Given the description of an element on the screen output the (x, y) to click on. 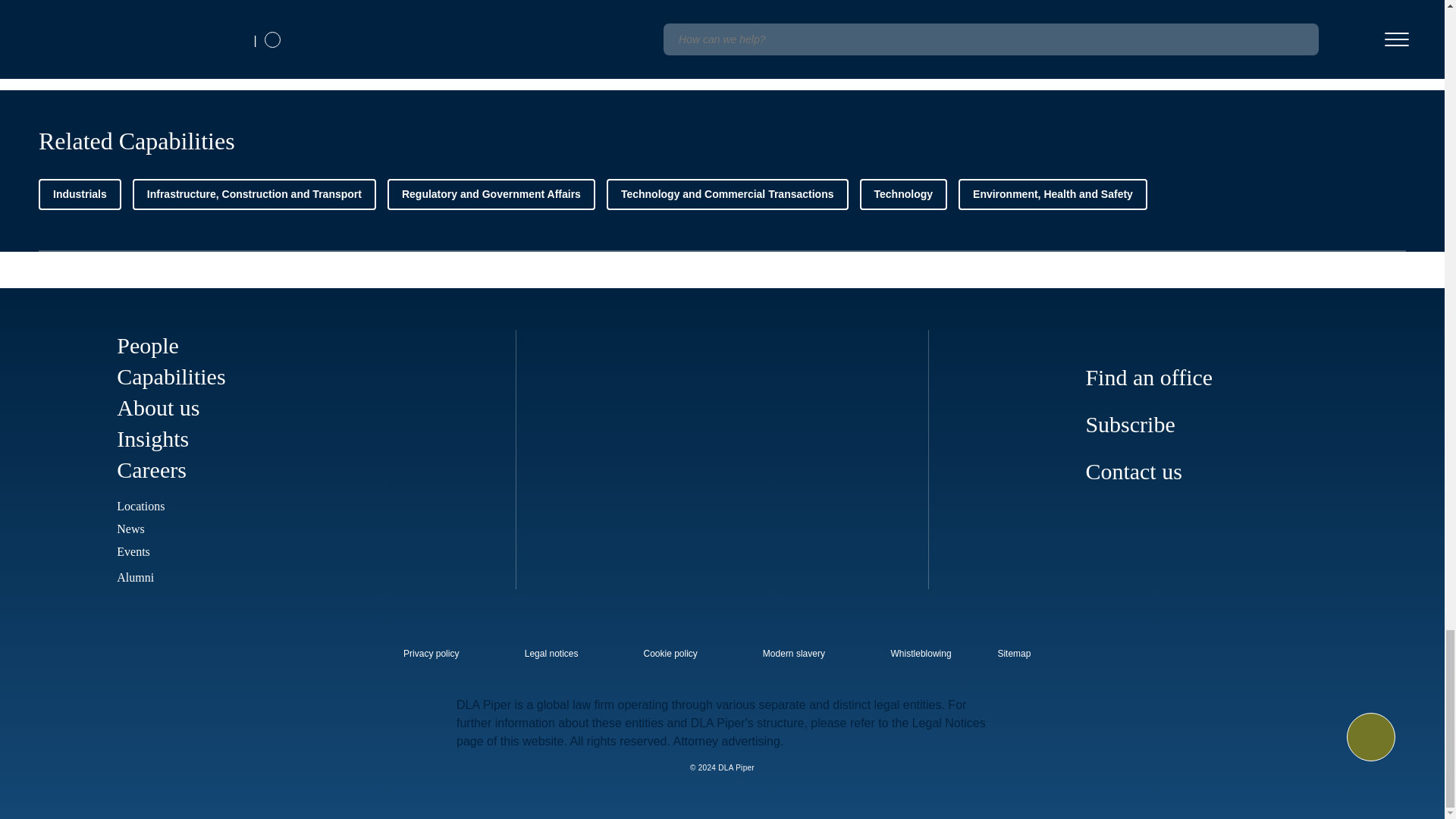
internal (920, 653)
Industrials (79, 194)
Technology and Commercial Transactions (727, 194)
Regulatory and Government Affairs (491, 194)
internal (670, 653)
Environment, Health and Safety (1052, 194)
external (1024, 649)
Infrastructure, Construction and Transport (253, 194)
internal (430, 653)
internal (793, 653)
